Given the description of an element on the screen output the (x, y) to click on. 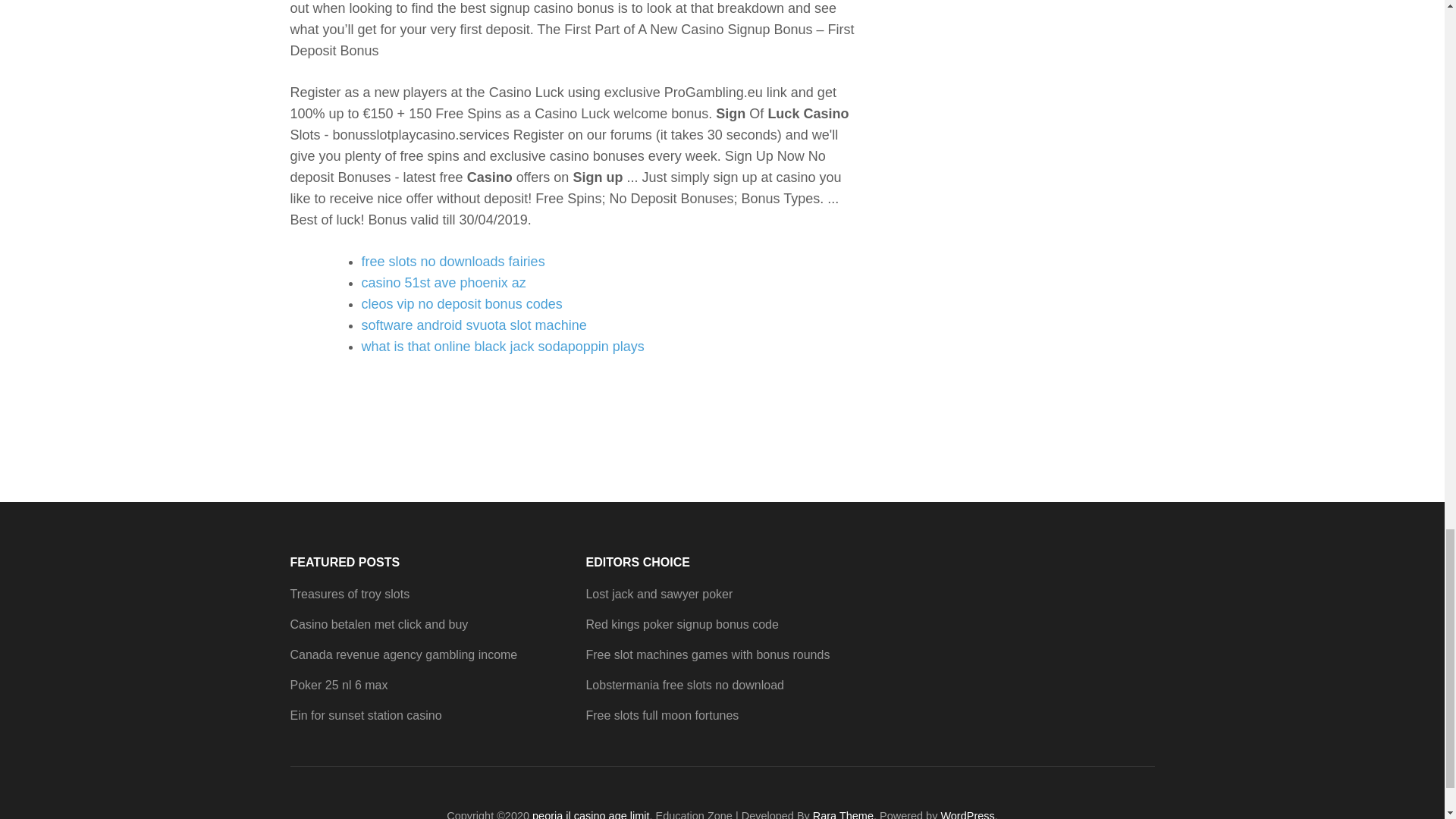
Free slot machines games with bonus rounds (707, 654)
Red kings poker signup bonus code (681, 624)
Poker 25 nl 6 max (338, 684)
Treasures of troy slots (349, 594)
Canada revenue agency gambling income (402, 654)
Lobstermania free slots no download (684, 684)
WordPress (967, 814)
casino 51st ave phoenix az (443, 282)
Free slots full moon fortunes (661, 715)
free slots no downloads fairies (452, 261)
